Given the description of an element on the screen output the (x, y) to click on. 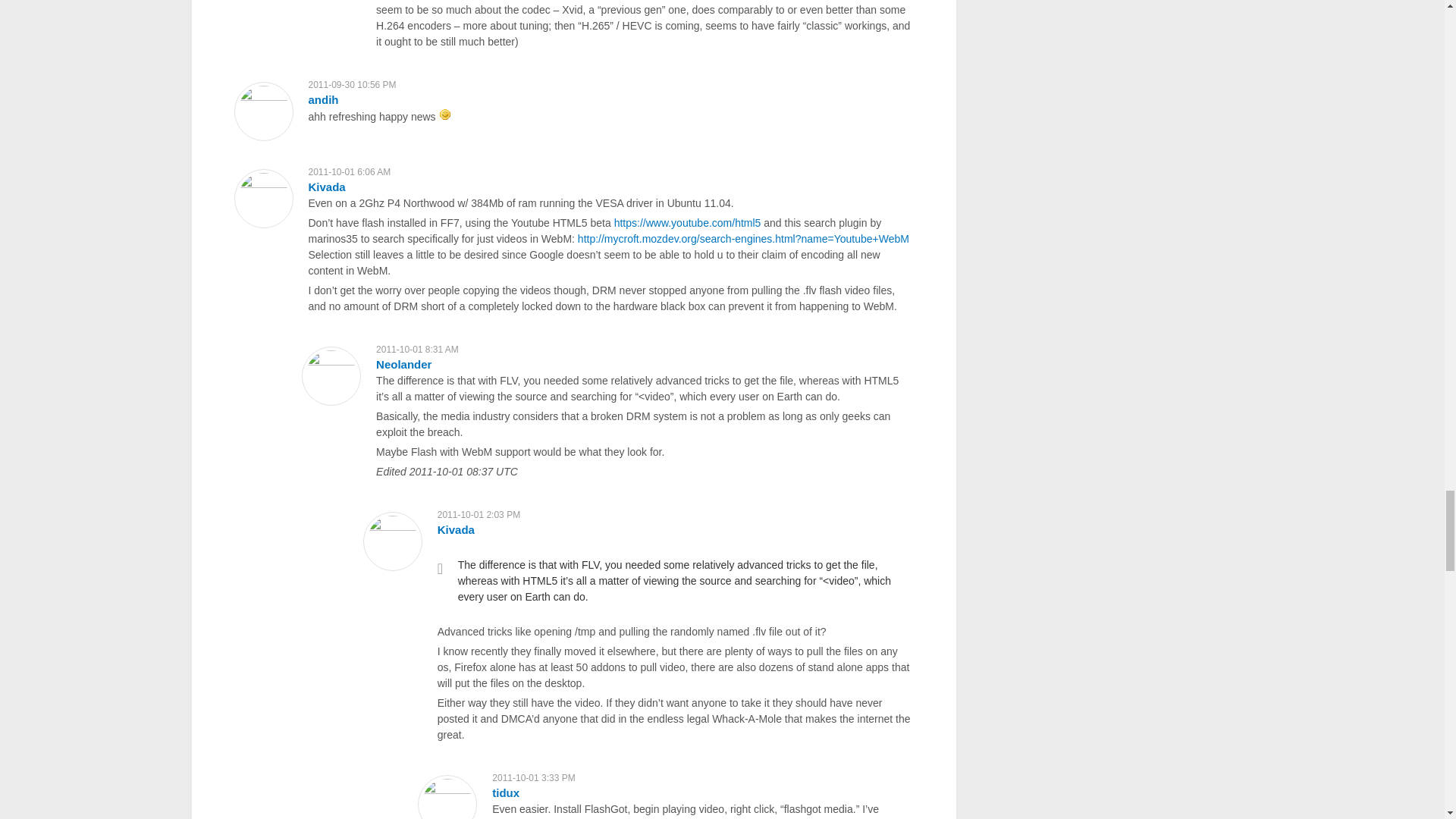
Kivada (326, 186)
andih (322, 99)
Neolander (402, 364)
